Given the description of an element on the screen output the (x, y) to click on. 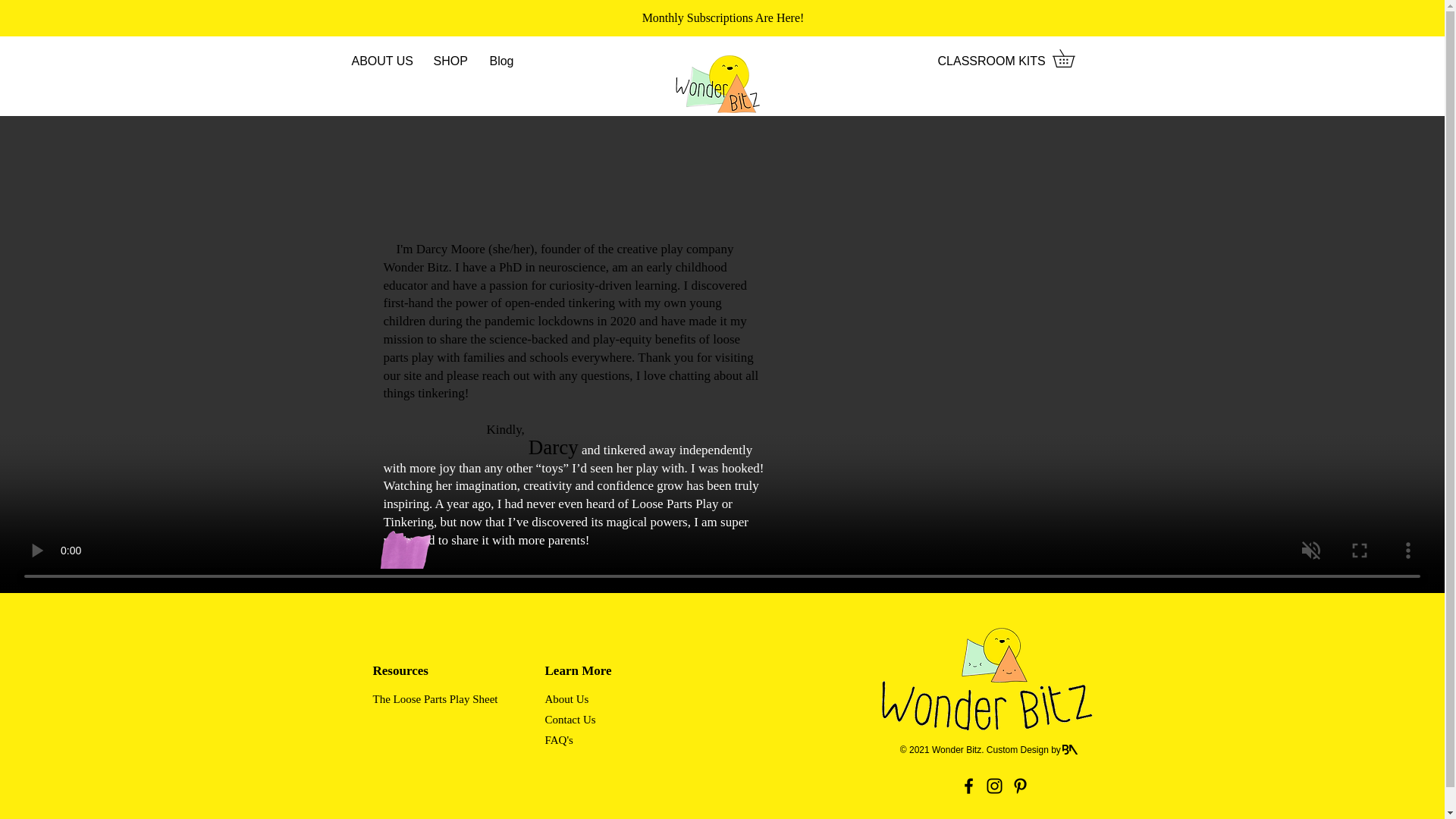
Blog (501, 61)
The Loose Parts Play Sheet (442, 699)
SHOP (449, 61)
Contact Us (586, 720)
ABOUT US (380, 61)
CLASSROOM KITS (991, 60)
FAQ's (559, 740)
About Us (567, 699)
